Given the description of an element on the screen output the (x, y) to click on. 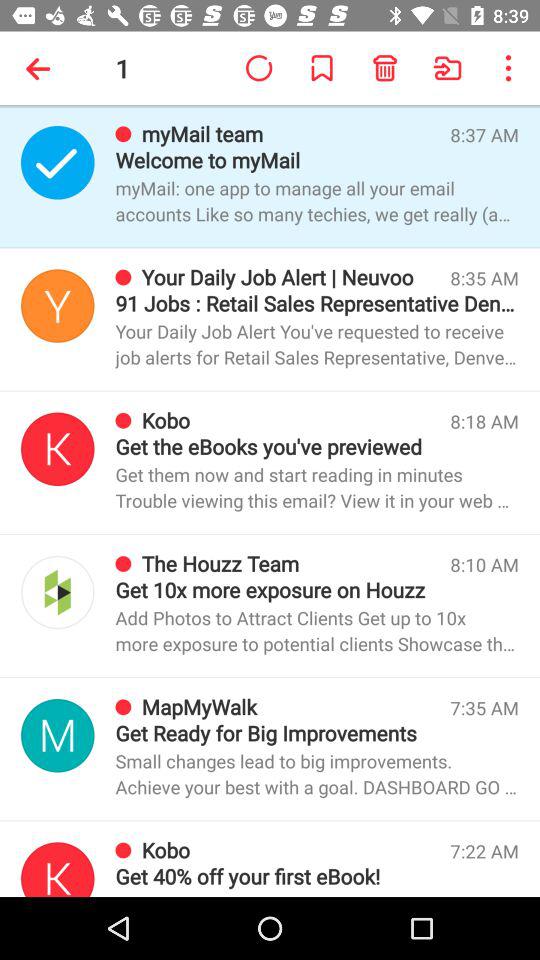
turn off the item to the left of 1 app (41, 68)
